Given the description of an element on the screen output the (x, y) to click on. 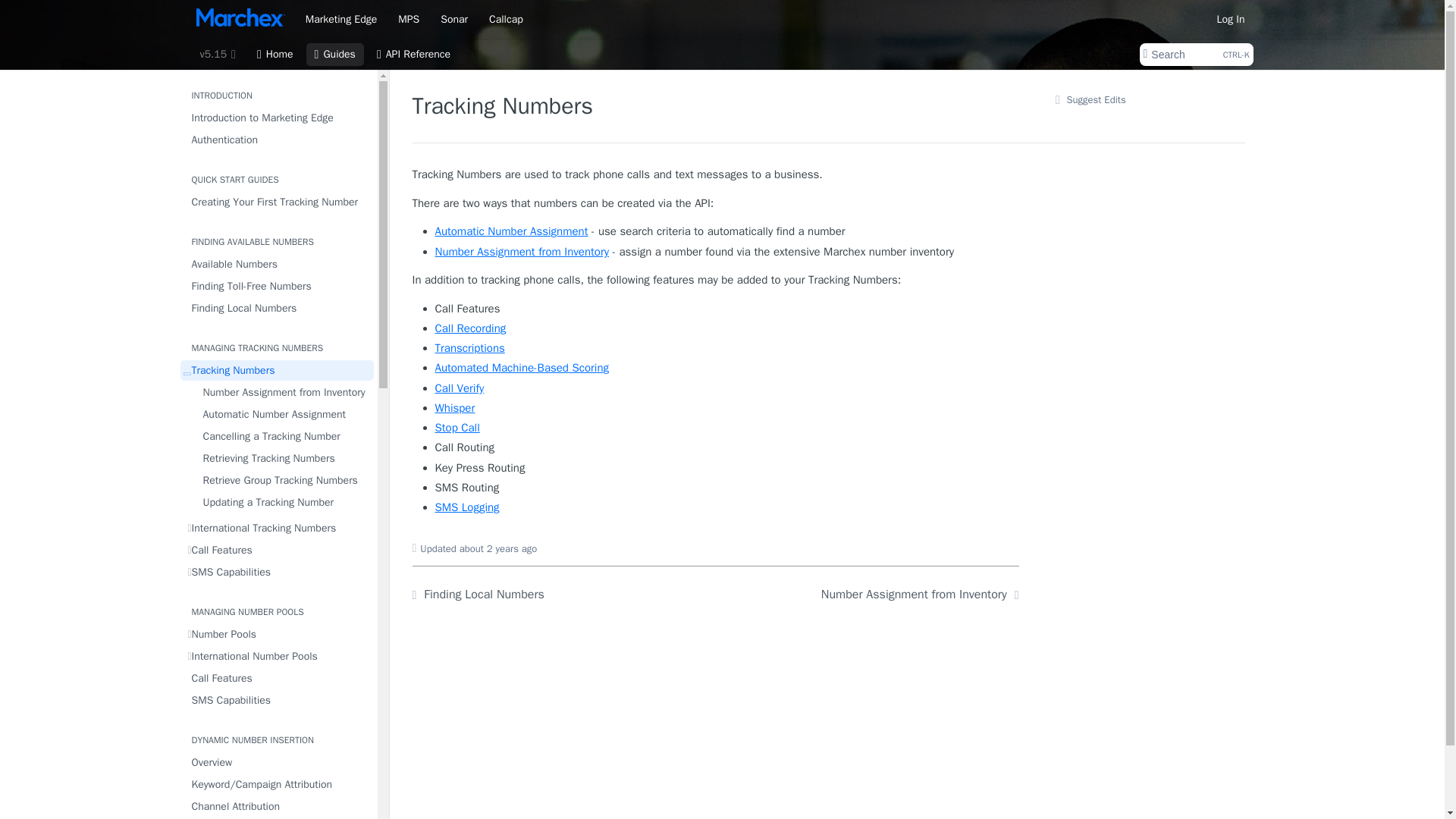
Cancelling a Tracking Number (281, 435)
Available Numbers (277, 263)
Finding Local Numbers (277, 308)
MPS (409, 18)
Home (274, 54)
Callcap (505, 18)
Log In (1230, 18)
Guides (334, 54)
Automatic Number Assignment (281, 414)
Creating Your First Tracking Number (277, 201)
Marketing Edge (1195, 54)
Authentication (341, 18)
Retrieving Tracking Numbers (277, 139)
v5.15 (281, 457)
